Given the description of an element on the screen output the (x, y) to click on. 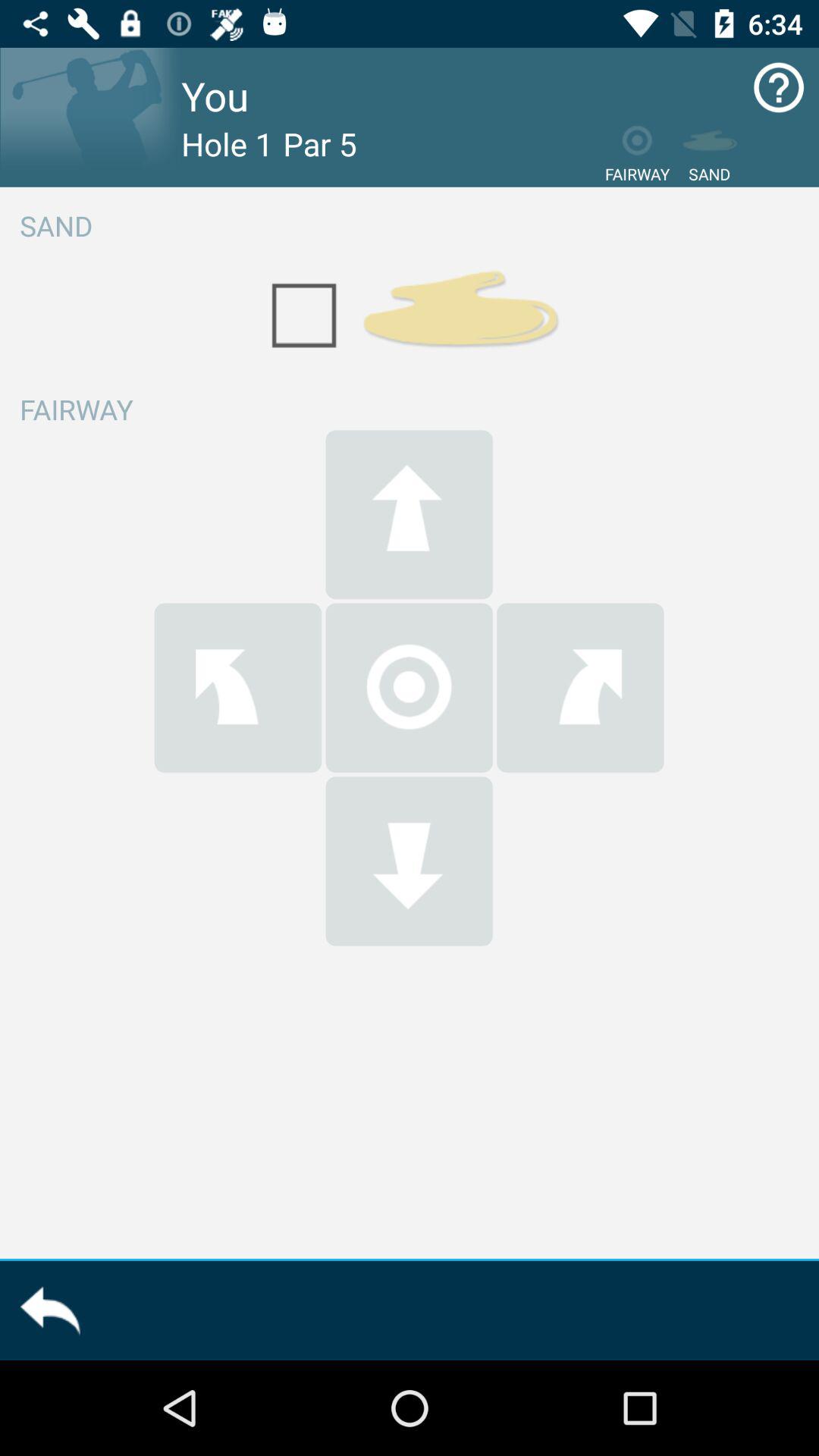
idea for person (90, 117)
